Given the description of an element on the screen output the (x, y) to click on. 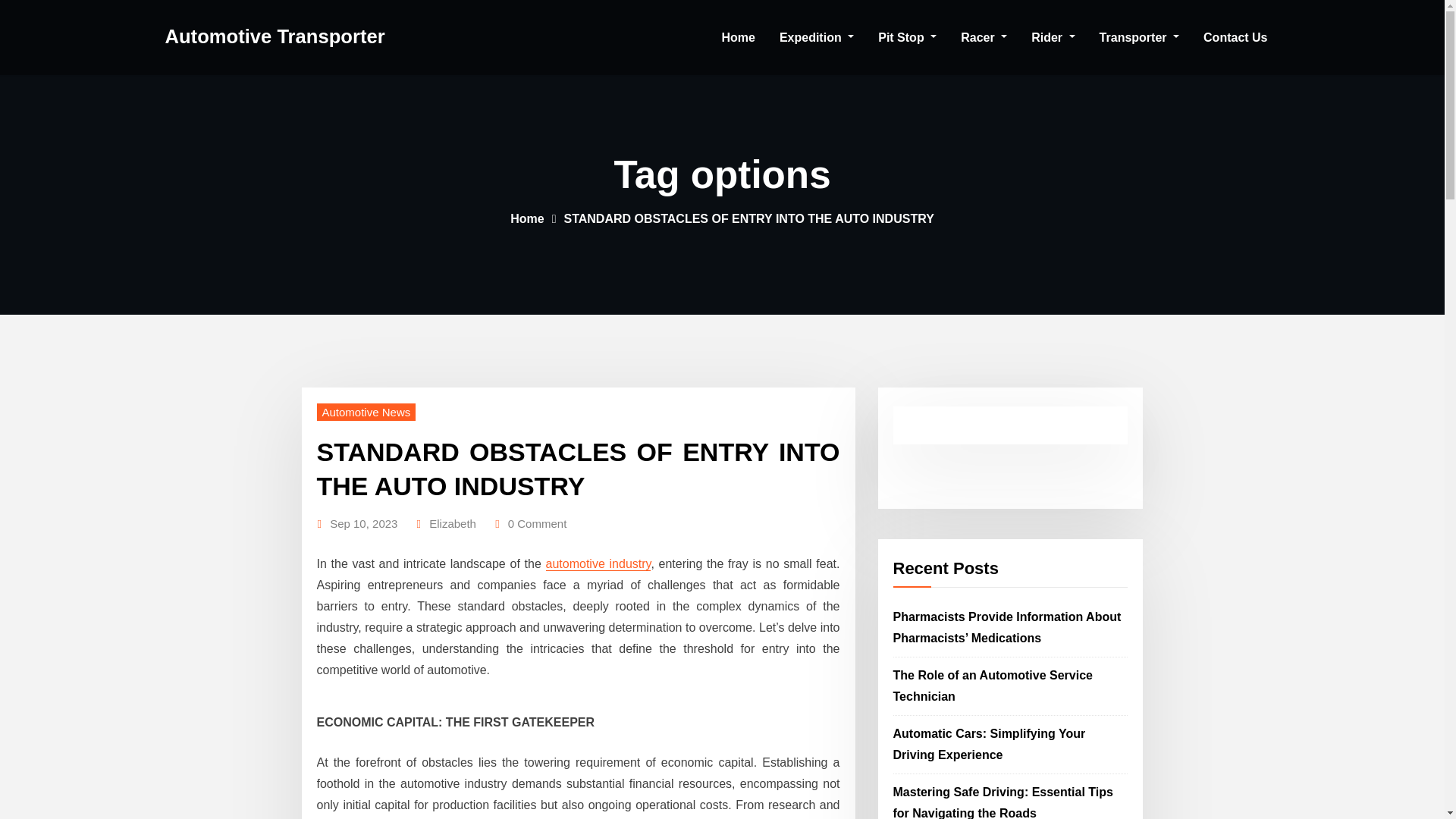
STANDARD OBSTACLES OF ENTRY INTO THE AUTO INDUSTRY (748, 218)
Contact Us (1235, 37)
Expedition (816, 37)
Automotive News (366, 411)
Pit Stop (907, 37)
Automotive Transporter (275, 35)
STANDARD OBSTACLES OF ENTRY INTO THE AUTO INDUSTRY (578, 468)
Rider (1052, 37)
Home (527, 218)
Sep 10, 2023 (363, 523)
automotive industry (598, 563)
0 Comment (537, 523)
Transporter (1139, 37)
Elizabeth (452, 523)
Racer (984, 37)
